Given the description of an element on the screen output the (x, y) to click on. 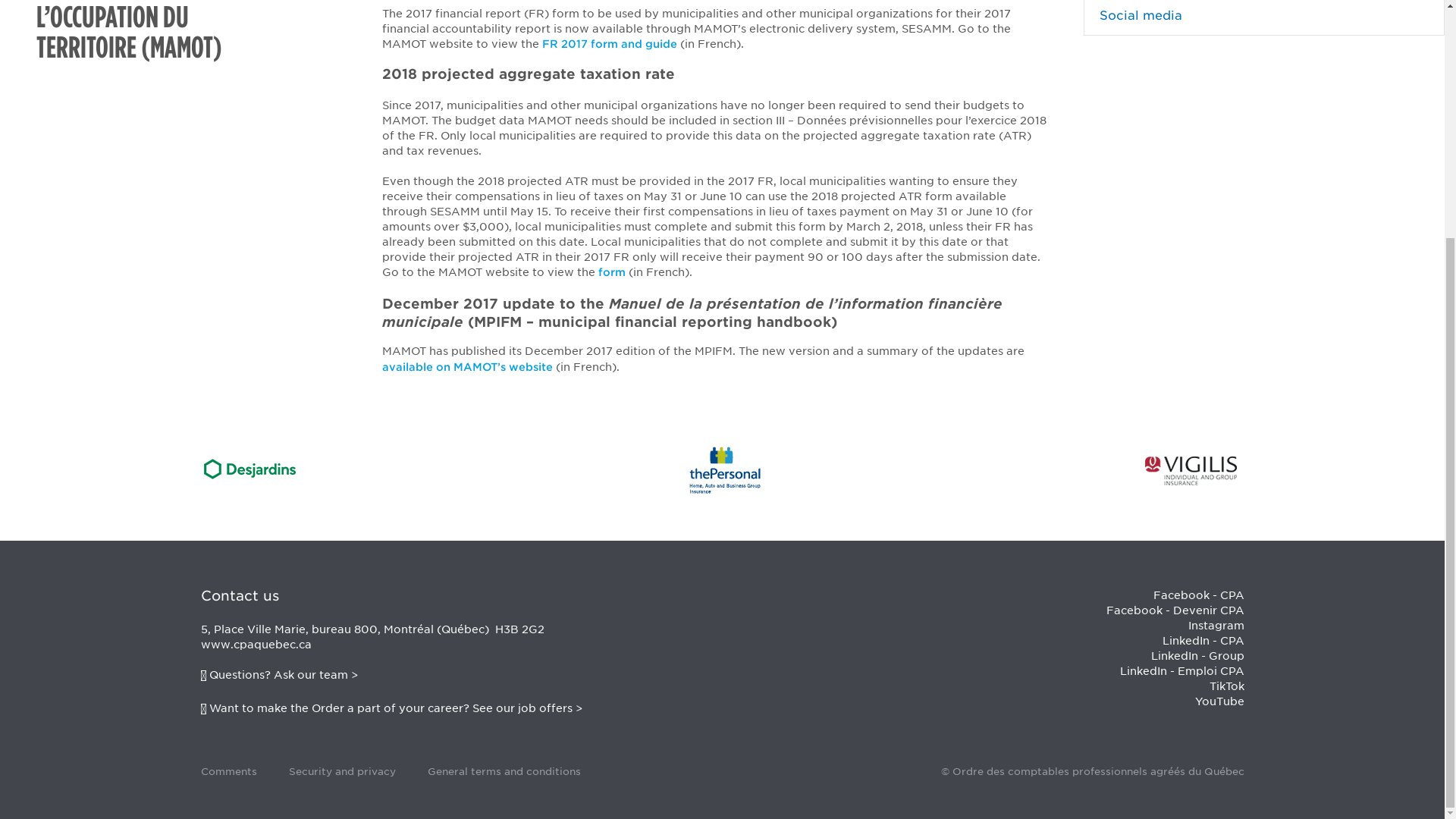
LinkedIn - Emploi CPA (1181, 671)
Instagram (1215, 625)
TikTok (1225, 686)
Facebook - Devenir CPA (1174, 610)
LinkedIn - Group (1197, 655)
YouTube (1219, 701)
LinkedIn - CPA (1202, 640)
Facebook - CPA (1198, 594)
